Given the description of an element on the screen output the (x, y) to click on. 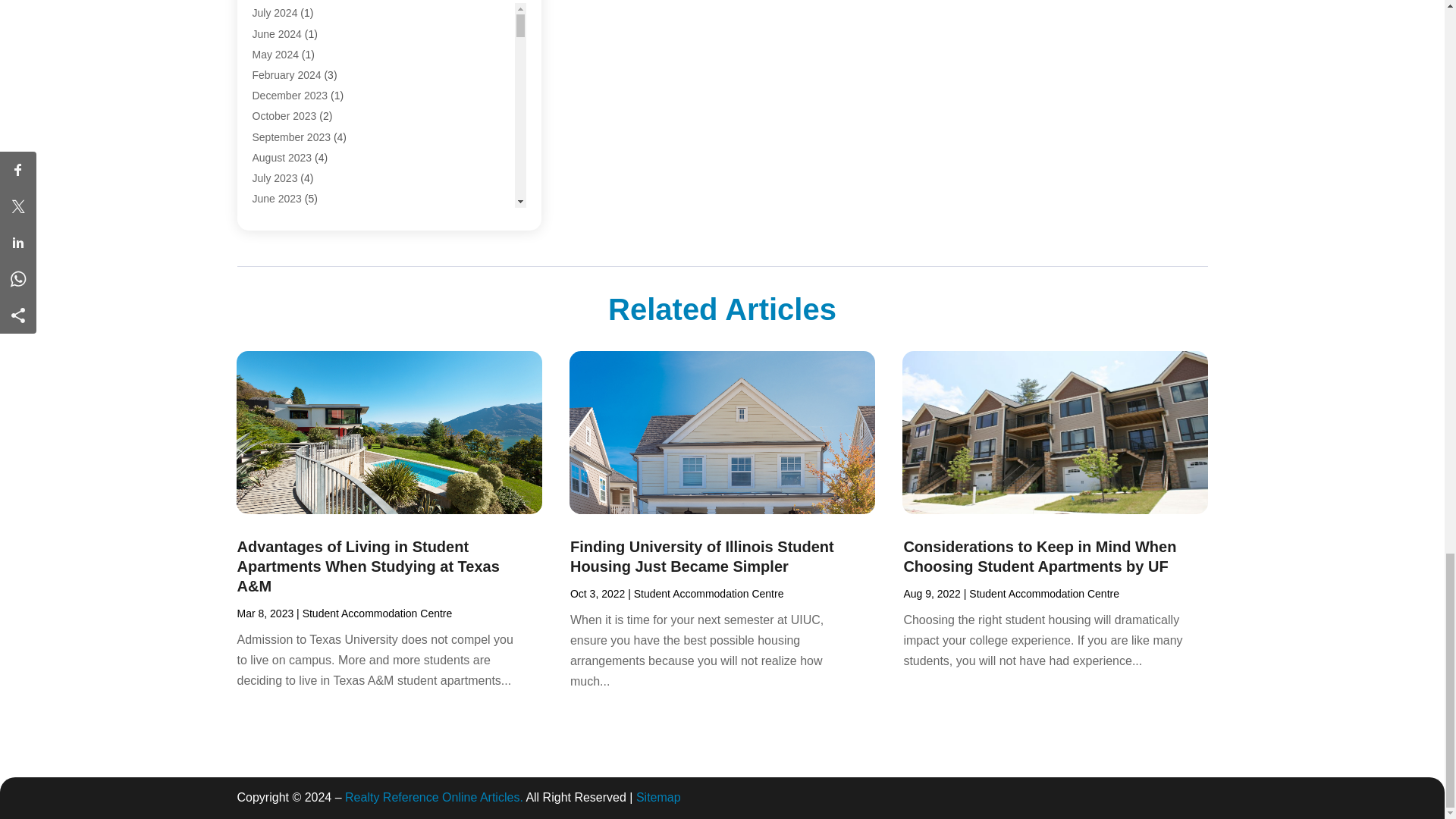
Housing Development (303, 78)
Home And Garden (295, 37)
General (270, 1)
Homes (268, 58)
Health (266, 17)
